Given the description of an element on the screen output the (x, y) to click on. 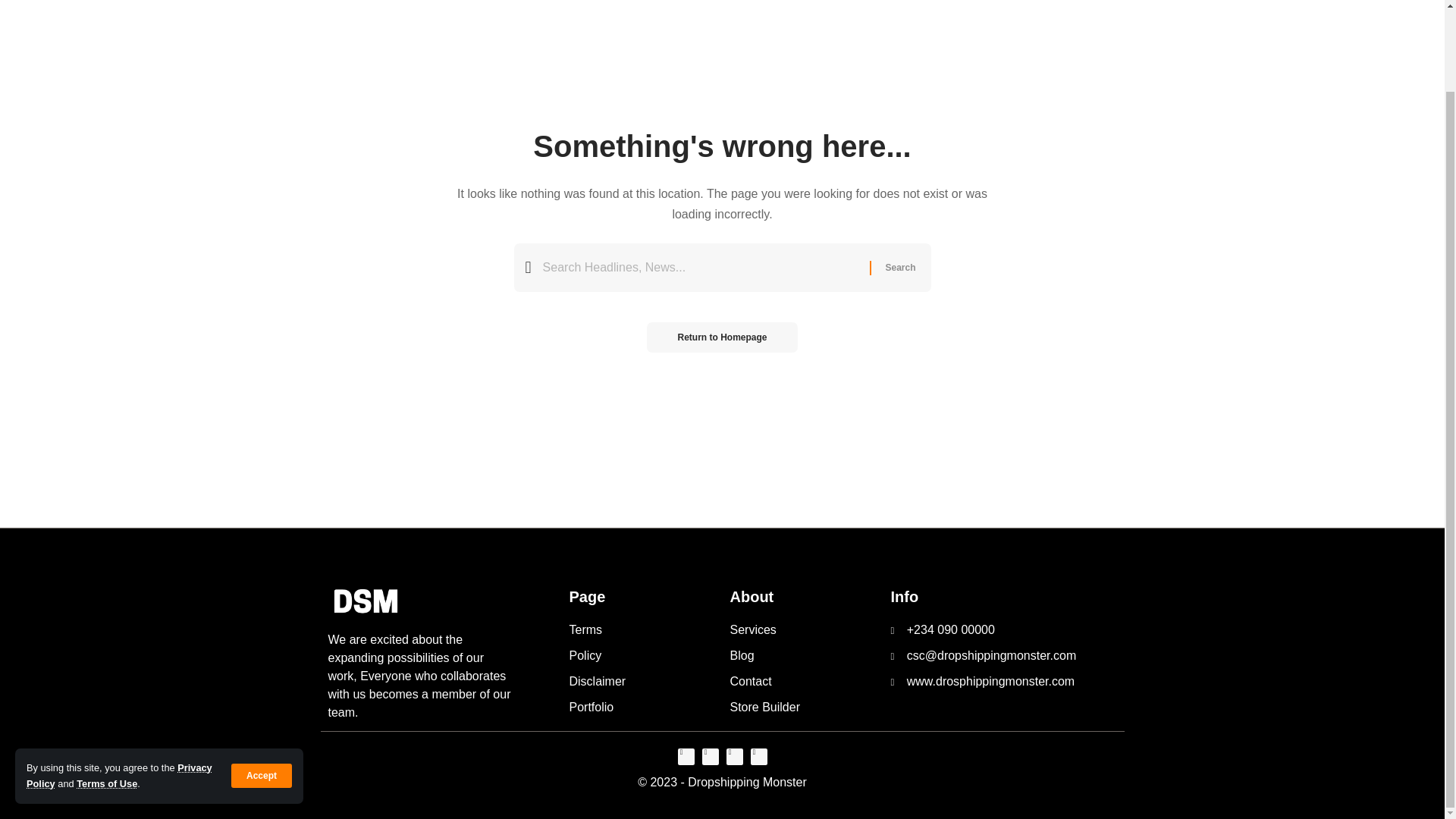
Search (899, 267)
Privacy Policy (119, 683)
Accept (261, 683)
Terms of Use (106, 691)
